Given the description of an element on the screen output the (x, y) to click on. 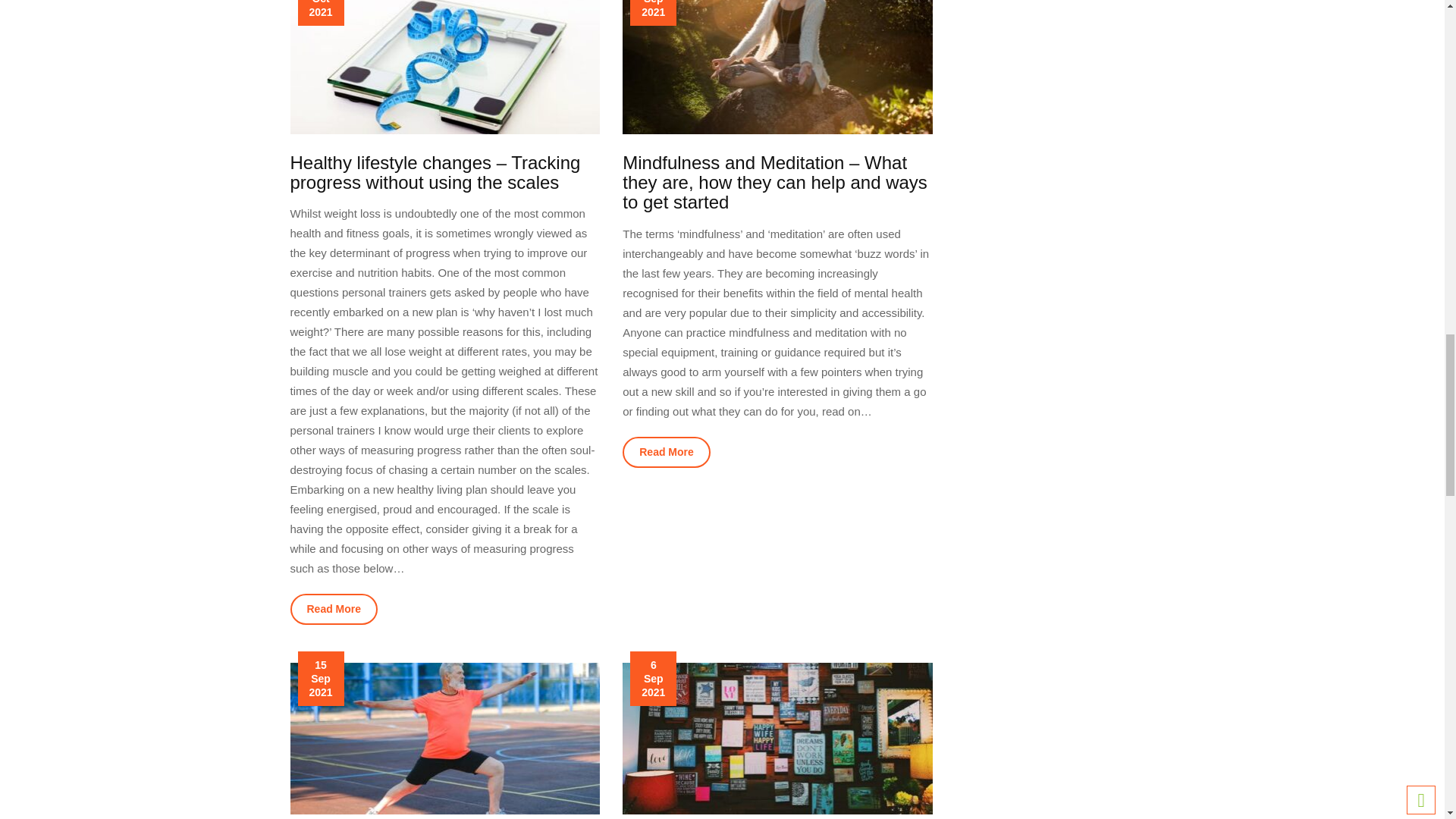
Read More (333, 608)
Read More (666, 451)
